Given the description of an element on the screen output the (x, y) to click on. 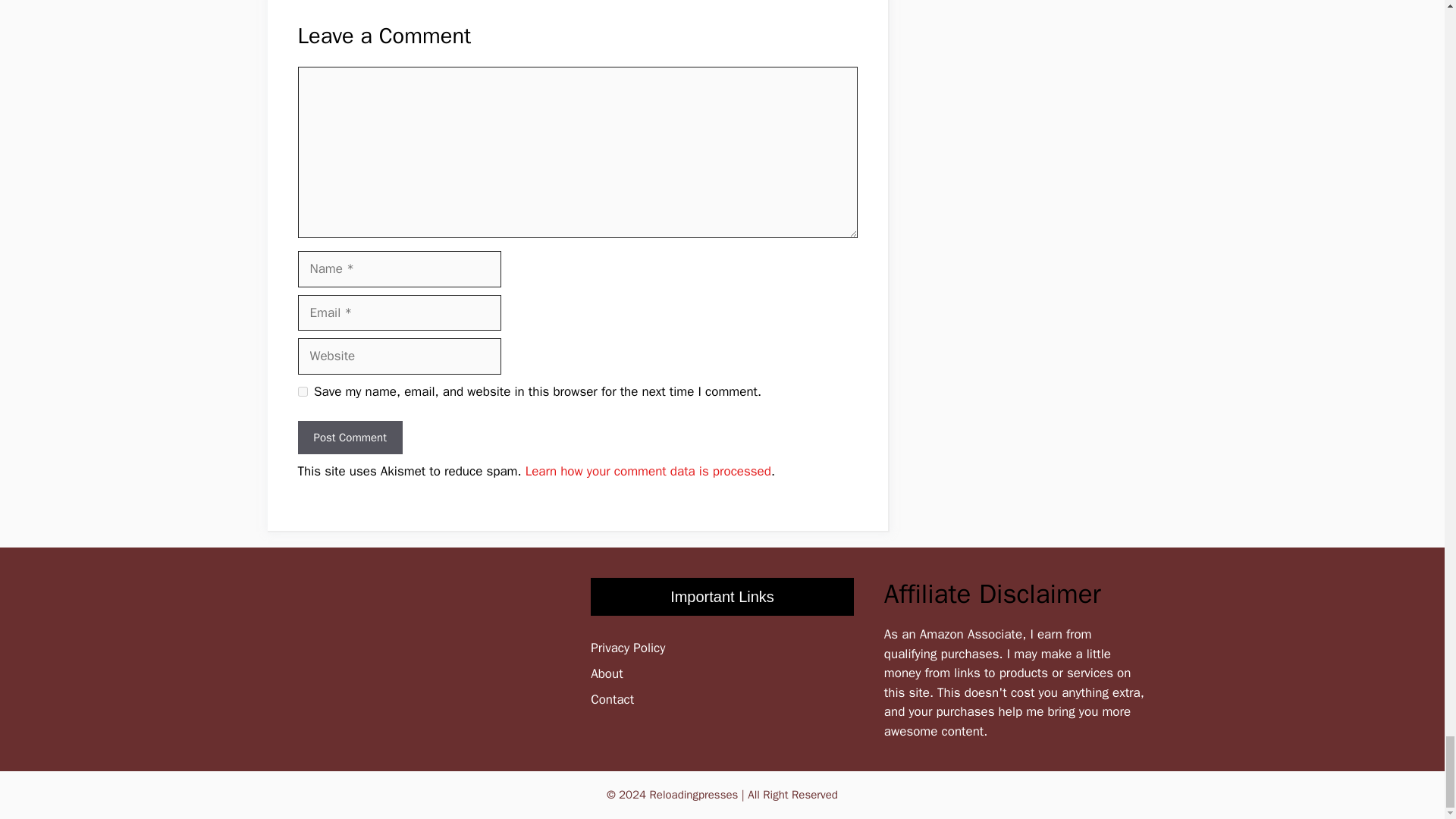
Post Comment (349, 437)
Privacy Policy (628, 647)
Reloadingpresses (693, 794)
About (607, 673)
yes (302, 391)
Post Comment (349, 437)
Learn how your comment data is processed (648, 471)
Contact (612, 699)
